Given the description of an element on the screen output the (x, y) to click on. 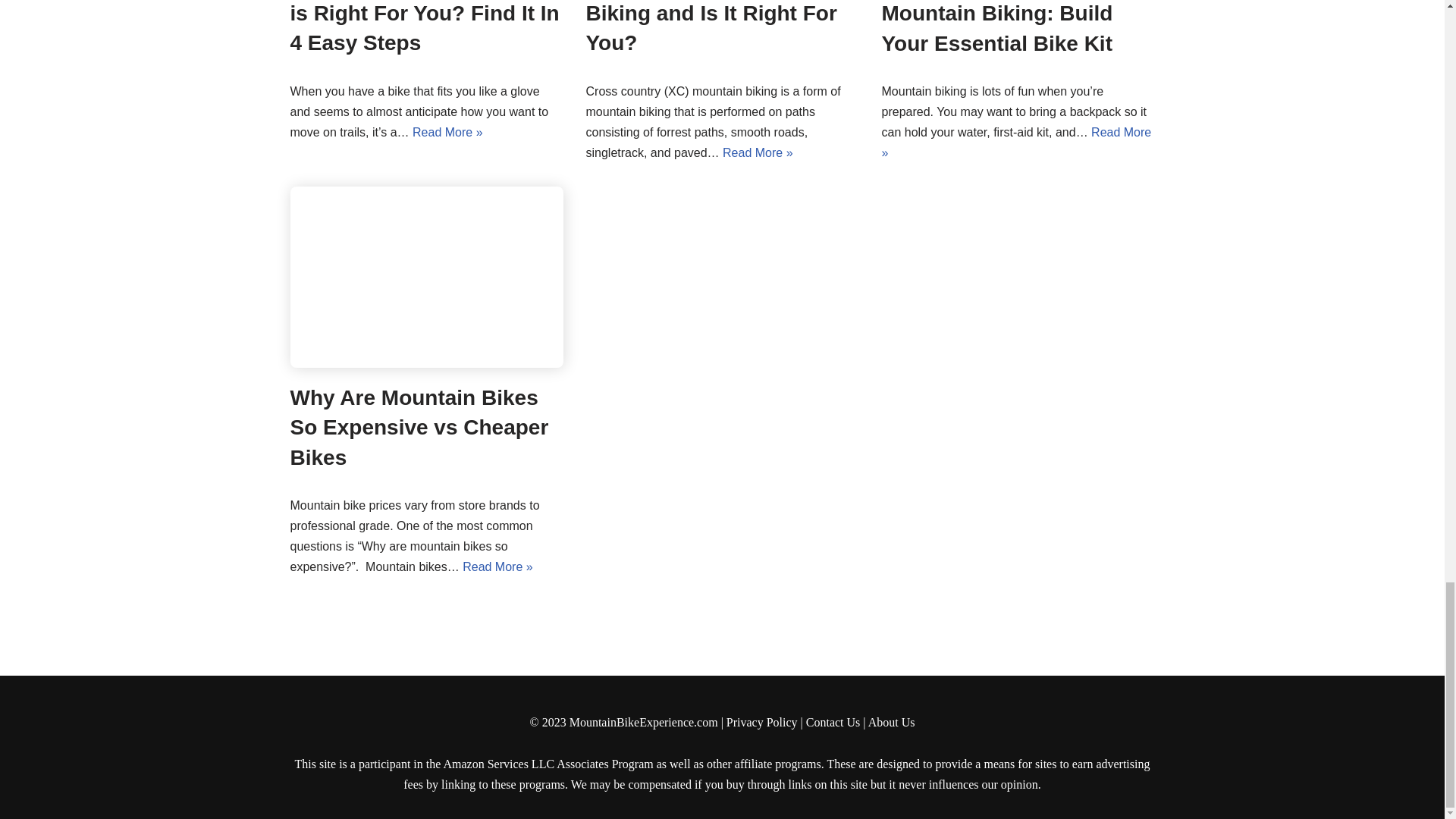
Why Are Mountain Bikes So Expensive vs Cheaper Bikes (425, 277)
